Given the description of an element on the screen output the (x, y) to click on. 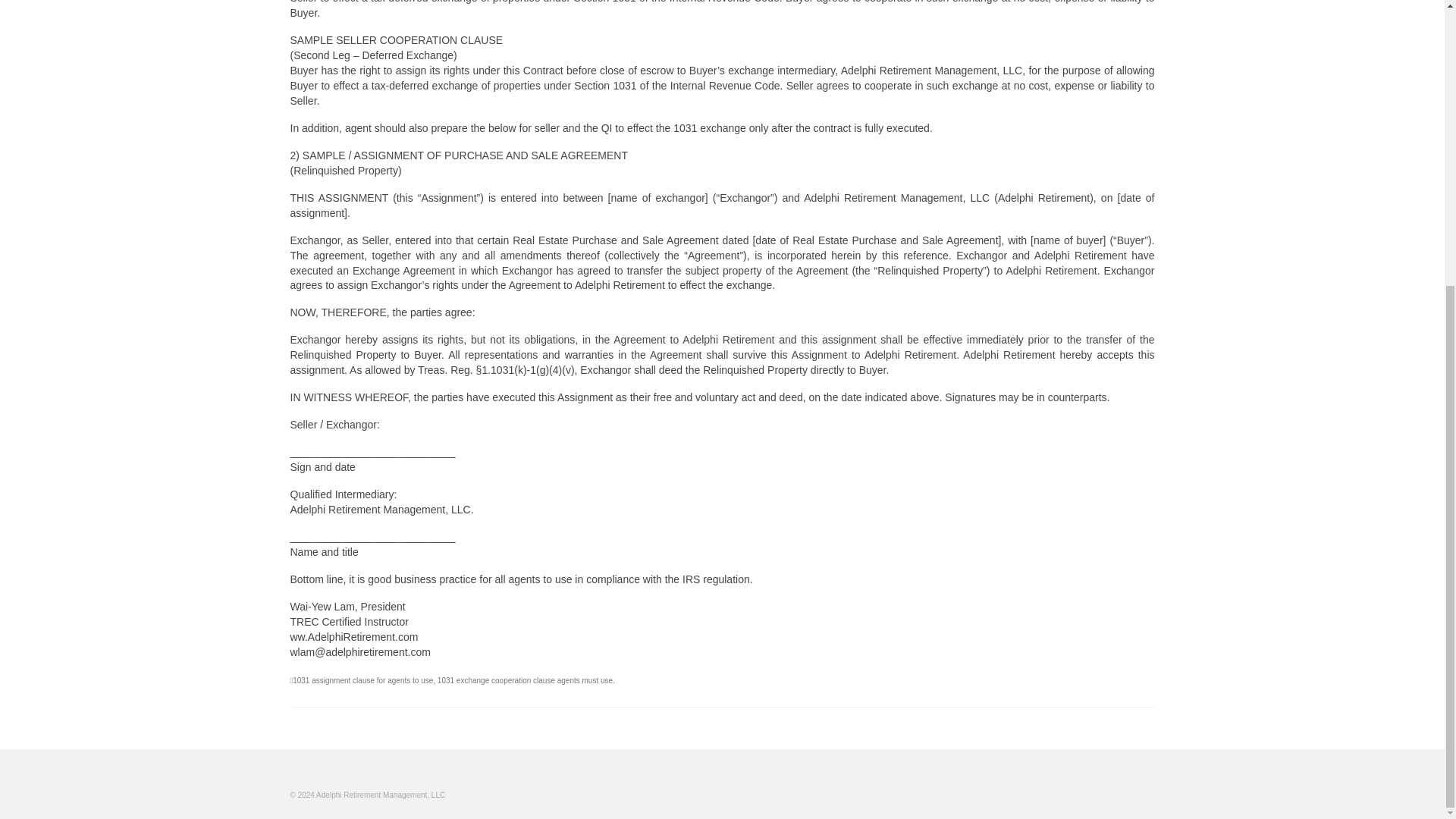
1031 exchange cooperation clause agents must use. (526, 680)
1031 assignment clause for agents to use (362, 680)
